Given the description of an element on the screen output the (x, y) to click on. 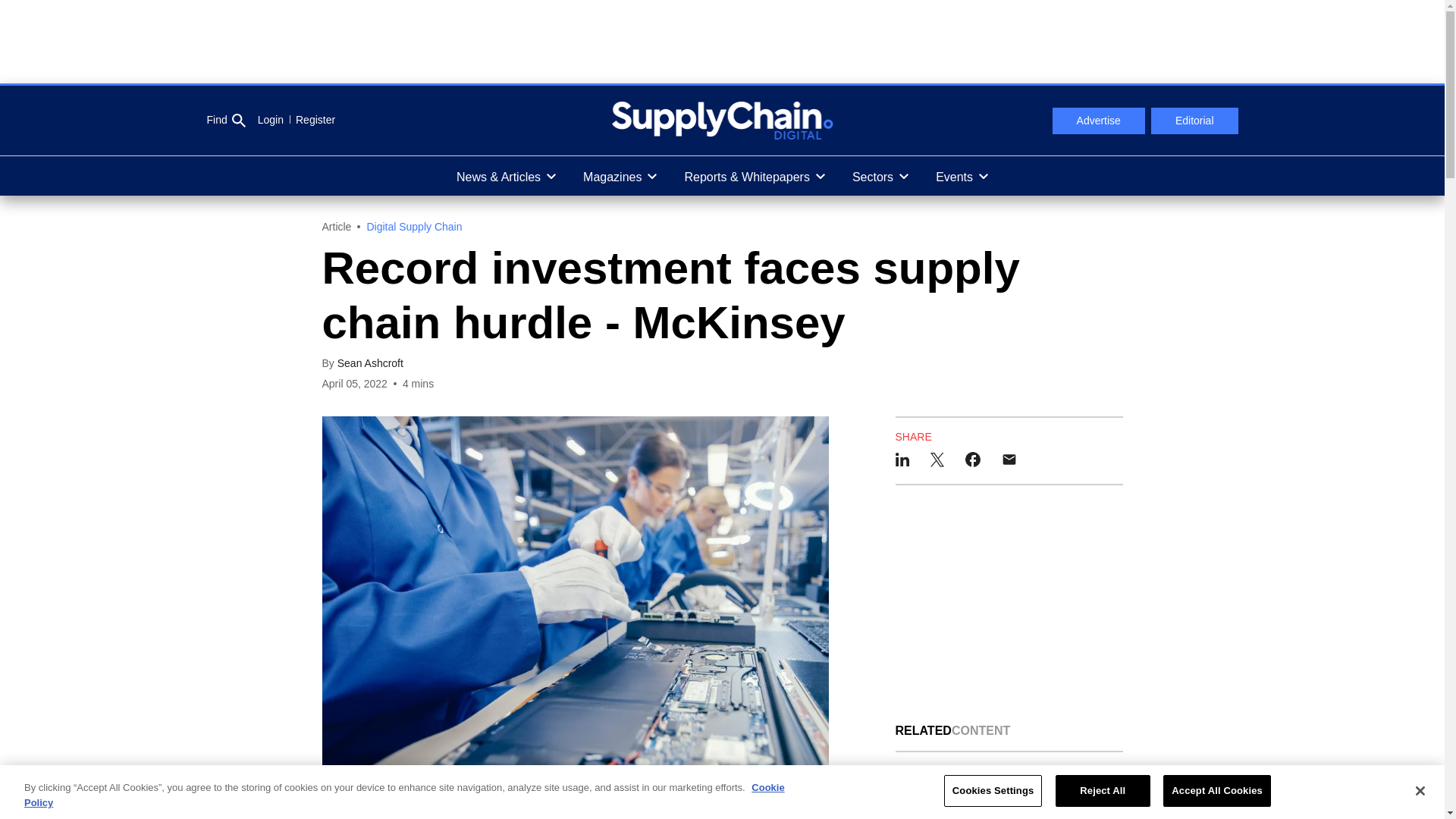
Login (270, 120)
Events (961, 175)
3rd party ad content (1008, 604)
Magazines (619, 175)
Editorial (1195, 121)
Register (308, 120)
3rd party ad content (721, 41)
Sectors (879, 175)
Advertise (1098, 121)
Find (225, 120)
